Given the description of an element on the screen output the (x, y) to click on. 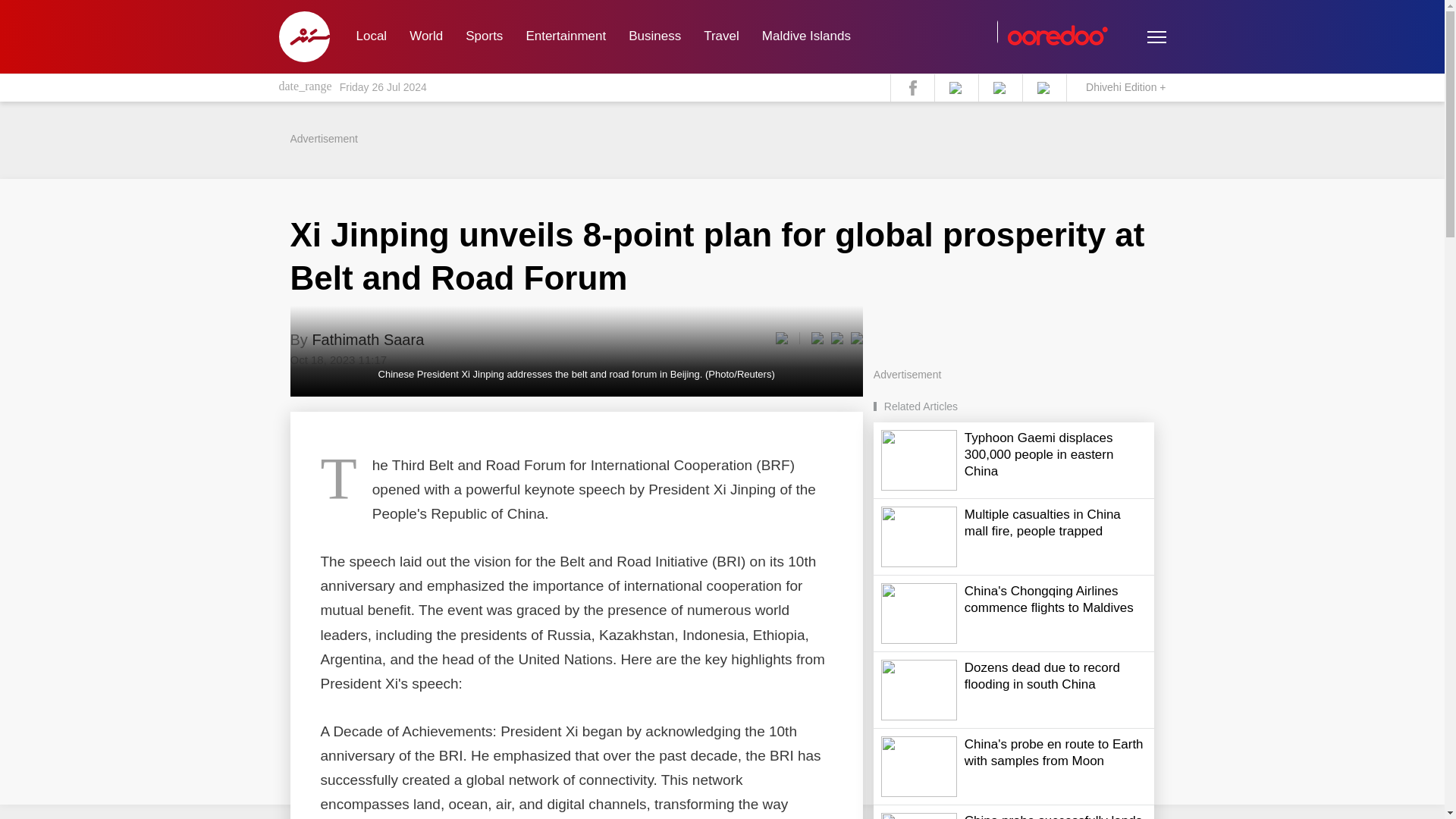
Entertainment (565, 36)
Fathimath Saara (367, 339)
World (425, 36)
Business (655, 36)
Maldive Islands (806, 36)
Travel (722, 36)
Sports (483, 36)
Local (370, 36)
